Given the description of an element on the screen output the (x, y) to click on. 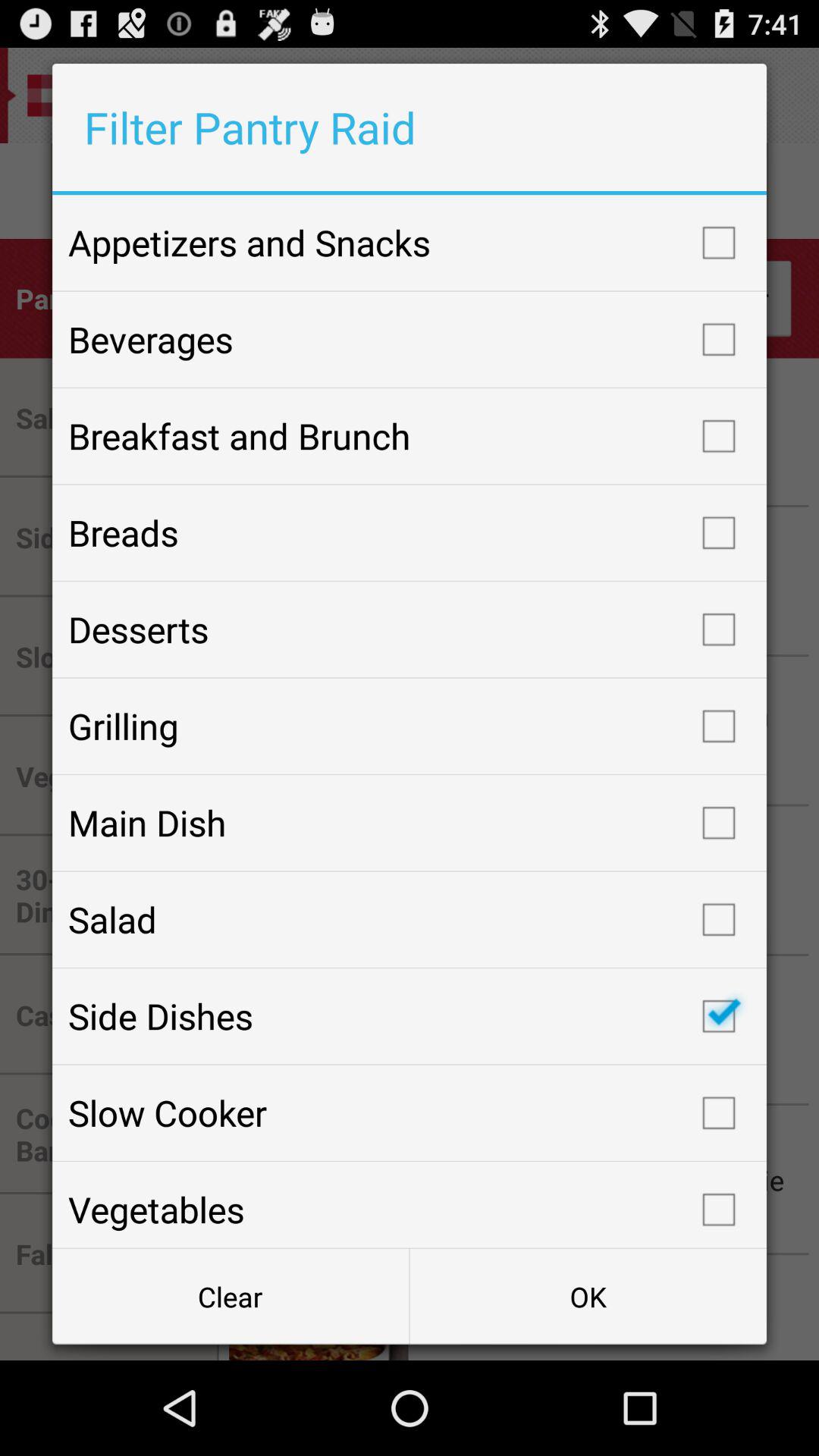
turn on the icon above slow cooker checkbox (409, 1016)
